Given the description of an element on the screen output the (x, y) to click on. 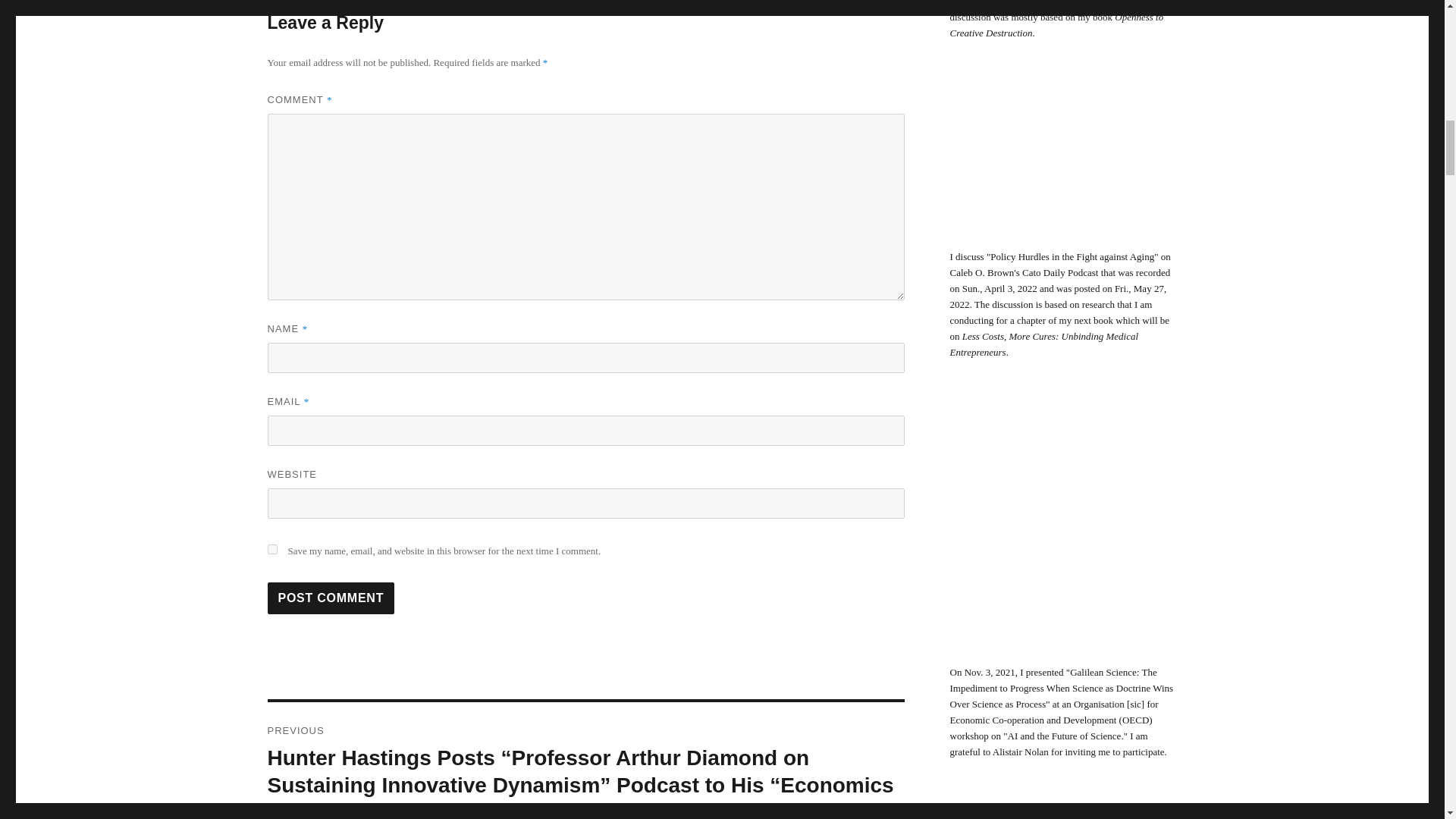
Post Comment (330, 598)
yes (271, 549)
Embed Player (1062, 160)
YouTube video player (1062, 527)
Post Comment (330, 598)
